Given the description of an element on the screen output the (x, y) to click on. 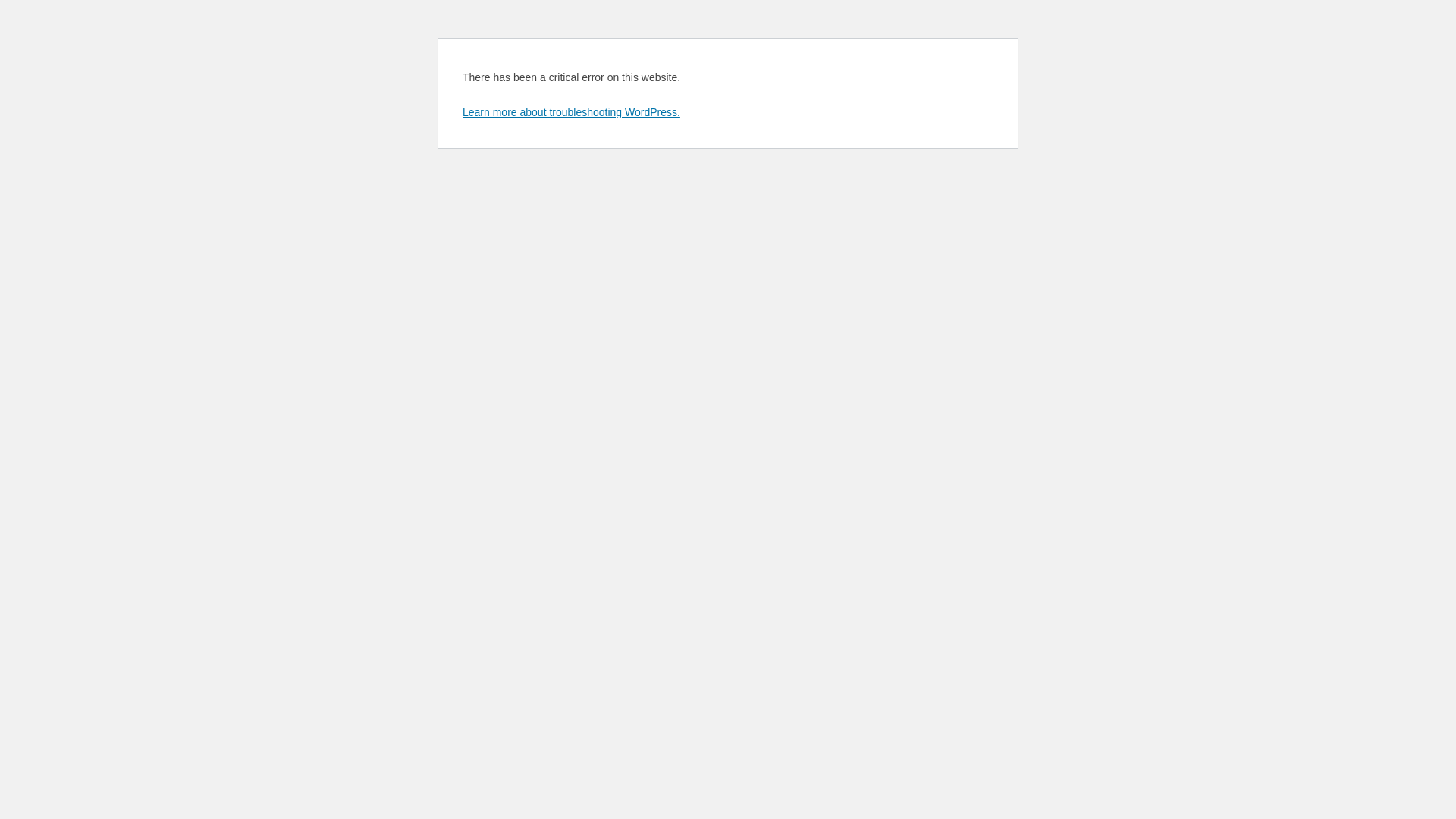
Learn more about troubleshooting WordPress. Element type: text (571, 112)
